Given the description of an element on the screen output the (x, y) to click on. 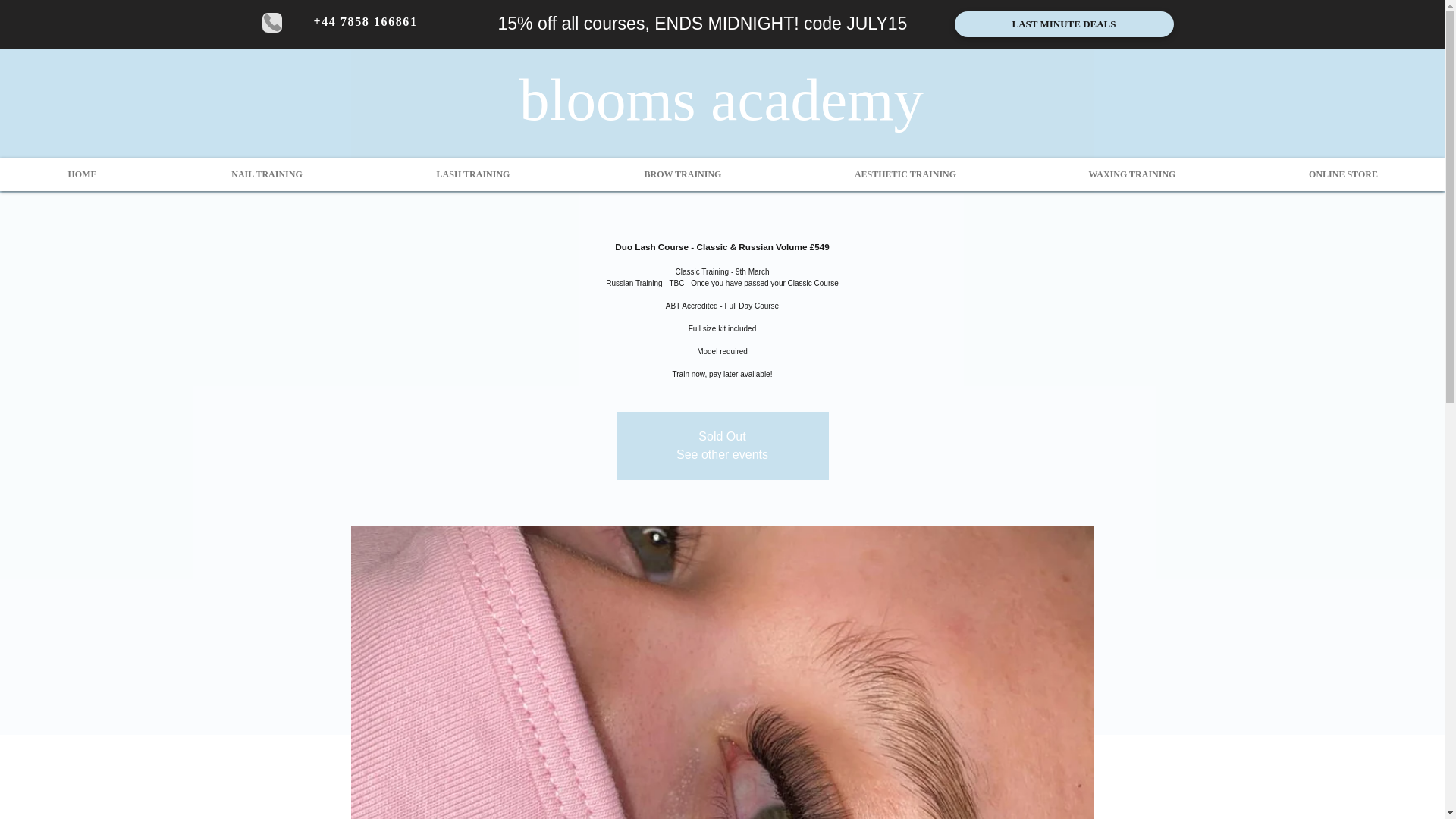
blooms academy (721, 98)
LAST MINUTE DEALS (1063, 23)
HOME (82, 174)
See other events (722, 454)
